Given the description of an element on the screen output the (x, y) to click on. 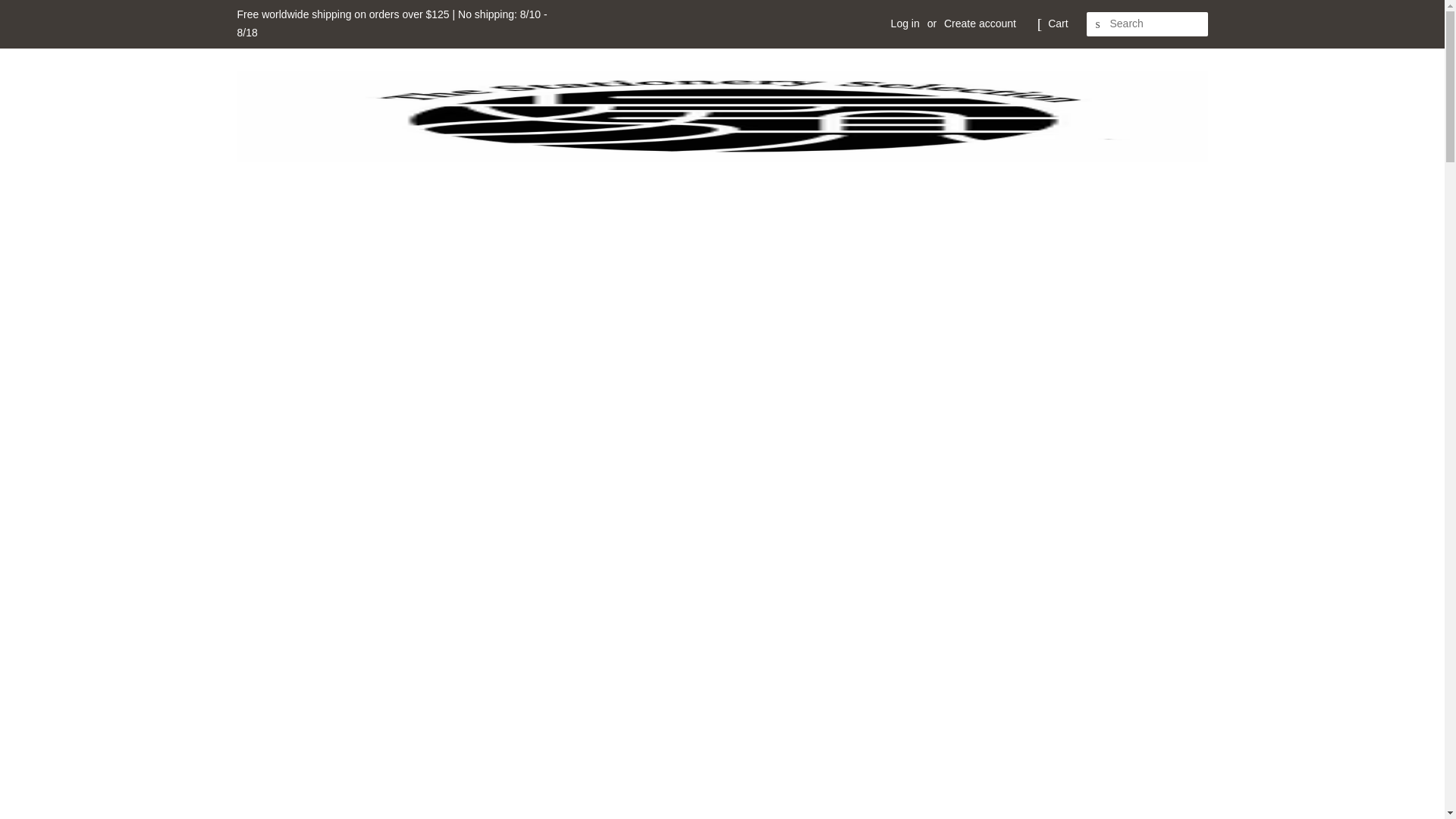
Create account (979, 23)
SEARCH (1097, 24)
Cart (1057, 24)
Log in (905, 23)
